Given the description of an element on the screen output the (x, y) to click on. 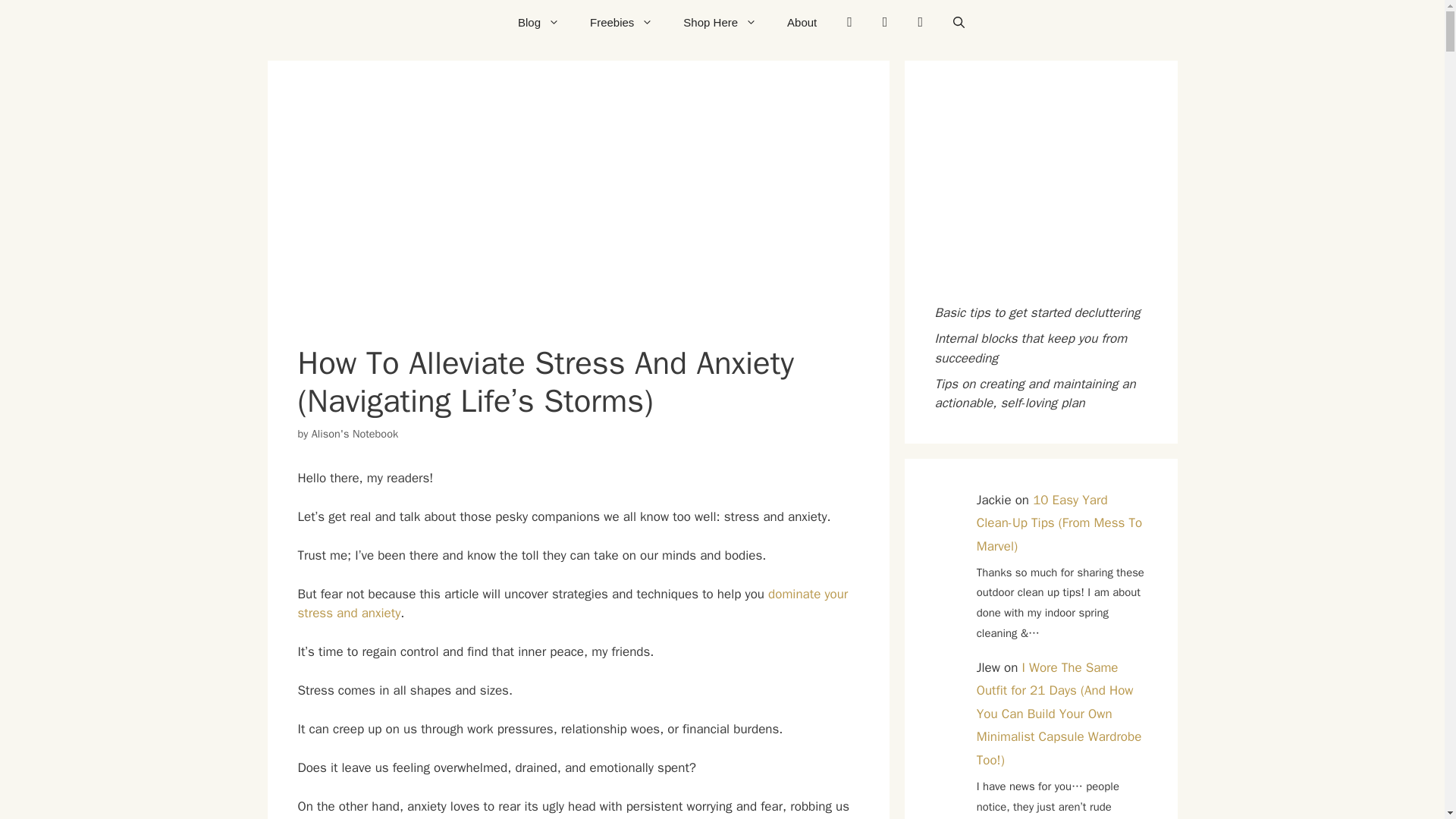
About (801, 22)
Shop Here (719, 22)
Freebies (621, 22)
View all posts by Alison's Notebook (354, 433)
Alison's Notebook (354, 433)
Blog (538, 22)
dominate your stress and anxiety (572, 603)
